Given the description of an element on the screen output the (x, y) to click on. 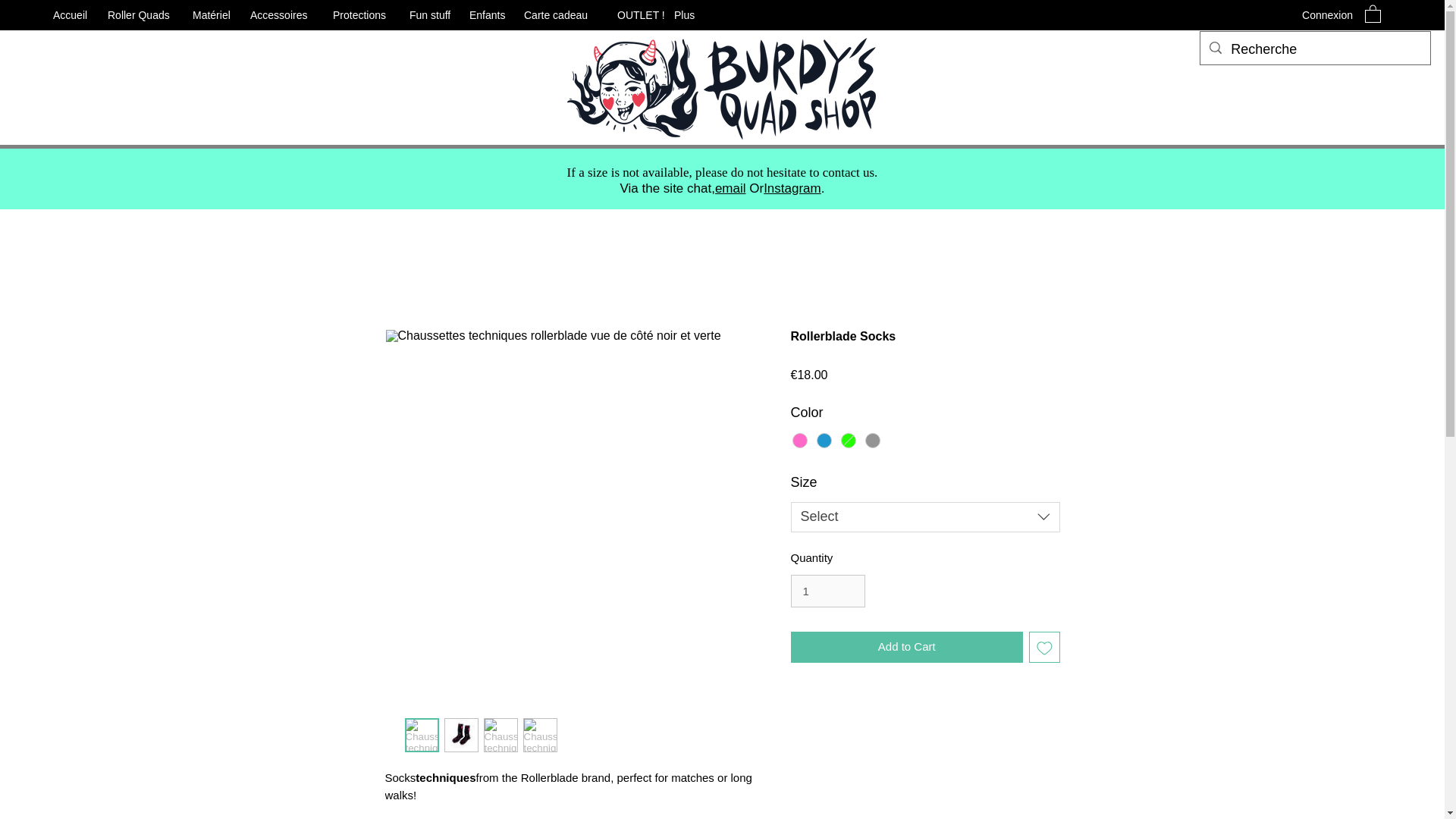
Connexion (1326, 15)
Accessoires (283, 15)
Protections (362, 15)
1 (827, 591)
Roller Quads (142, 15)
Accueil (72, 15)
Carte cadeau (563, 15)
Enfants (488, 15)
OUTLET ! (638, 15)
